Given the description of an element on the screen output the (x, y) to click on. 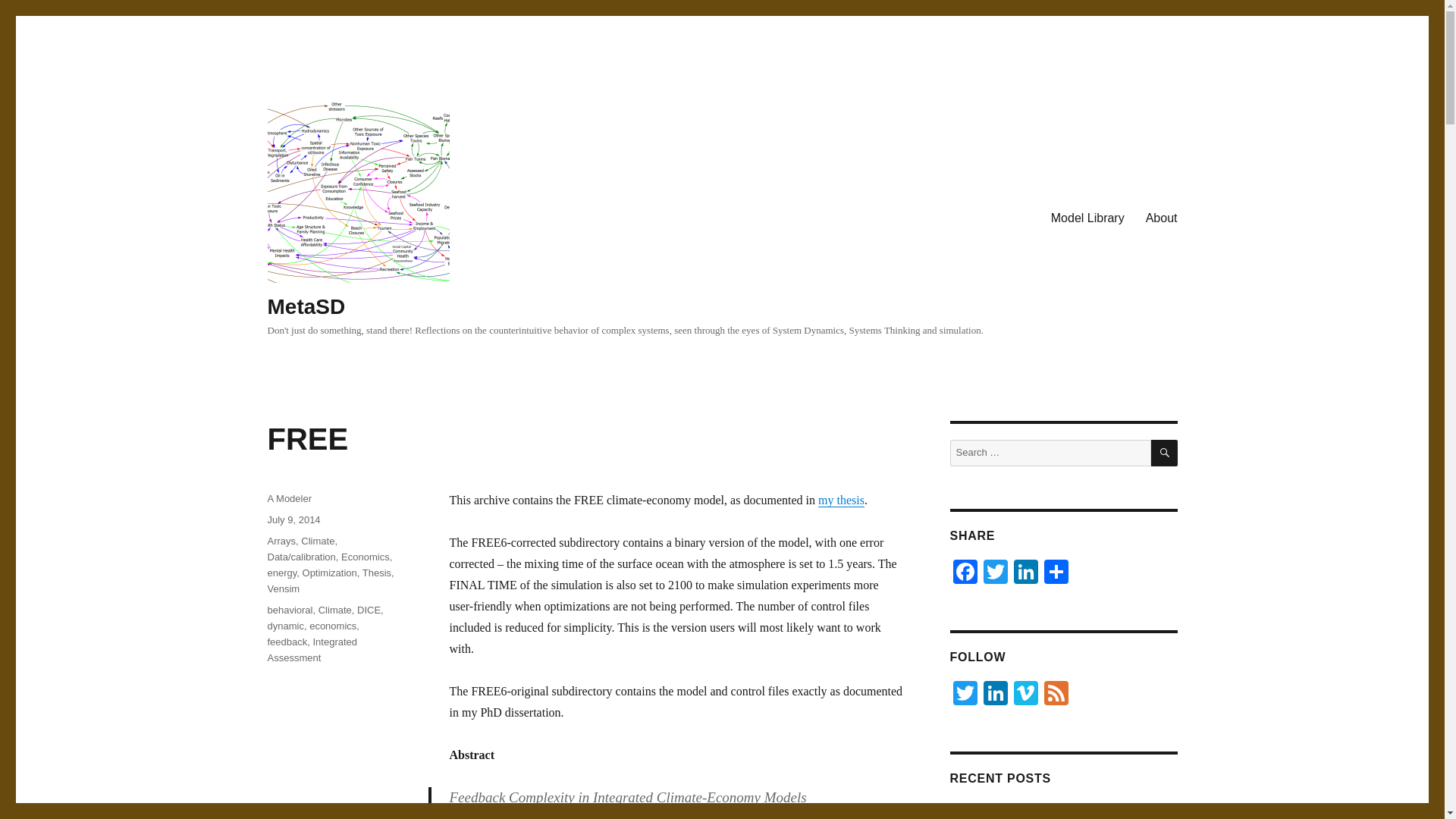
Facebook (964, 573)
Economics (365, 556)
Facebook (964, 573)
About (1161, 218)
LinkedIn (1025, 573)
LinkedIn (994, 694)
SEARCH (1164, 452)
Optimization (329, 572)
Vensim (282, 588)
A Modeler (288, 498)
